Given the description of an element on the screen output the (x, y) to click on. 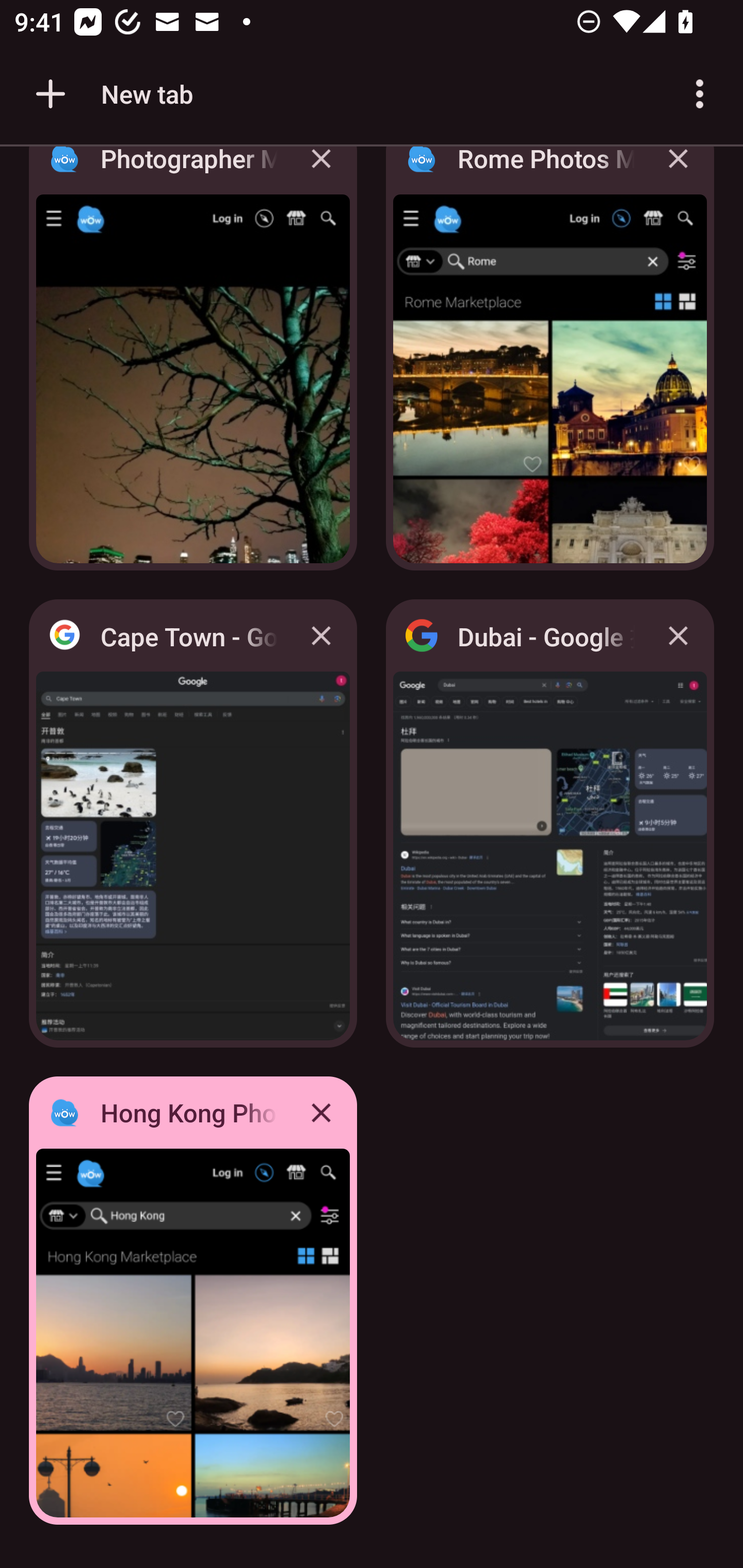
New tab (111, 93)
Customize and control Google Chrome (699, 93)
Close Cape Town - Google 搜索 tab (320, 635)
Close Dubai - Google 搜索 tab (677, 635)
